Given the description of an element on the screen output the (x, y) to click on. 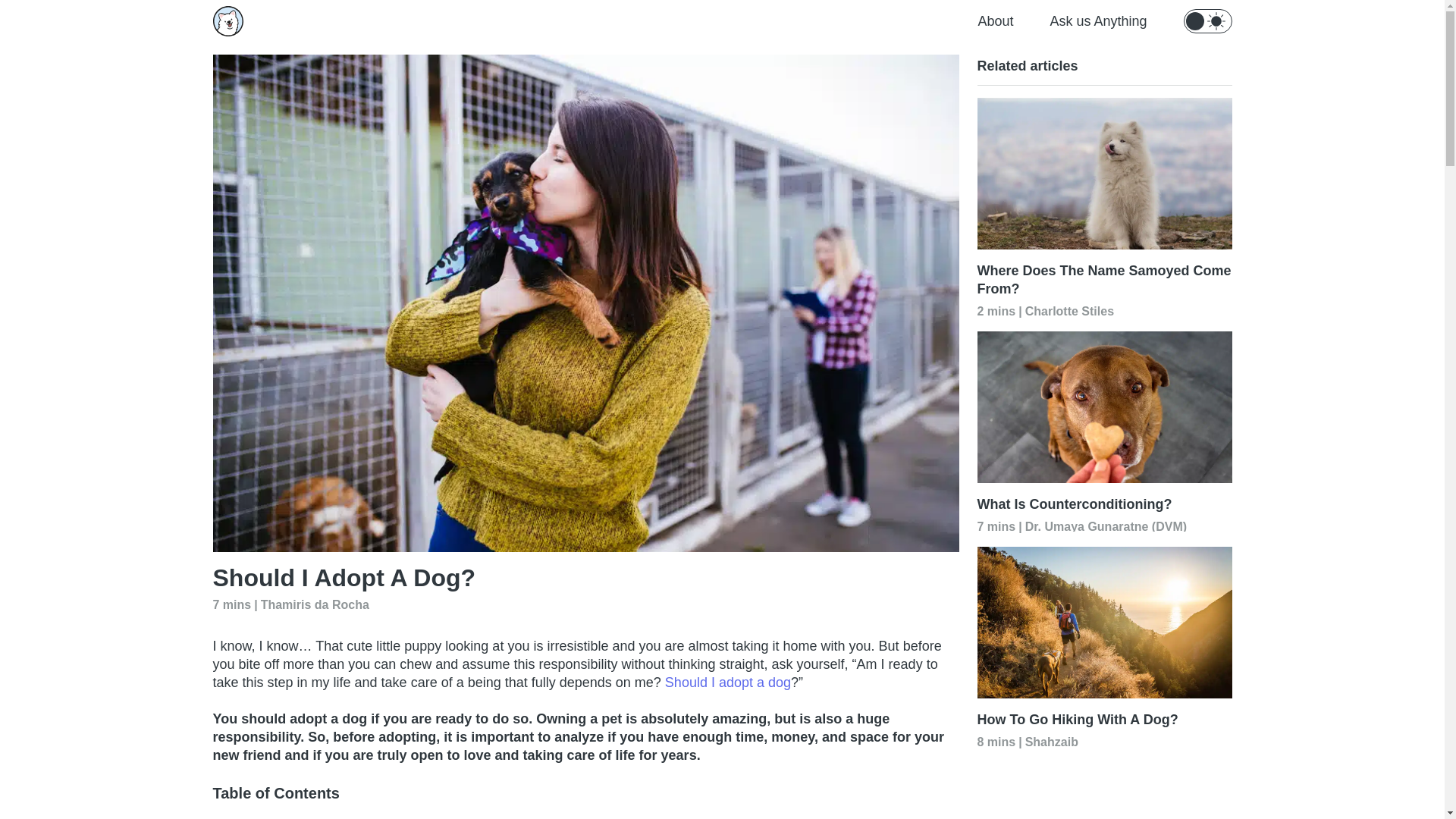
How To Go Hiking With A Dog? (1103, 719)
7 minutes reading time (231, 604)
Should I adopt a dog (727, 682)
What Is Counterconditioning? (1103, 503)
Where Does The Name Samoyed Come From? (1103, 279)
Thamiris da Rocha (314, 603)
About (994, 21)
Ask us Anything (1098, 21)
8 minutes reading time (995, 741)
Shahzaib (1051, 739)
2 minutes reading time (995, 310)
Charlotte Stiles (1069, 309)
7 minutes reading time (995, 525)
